Given the description of an element on the screen output the (x, y) to click on. 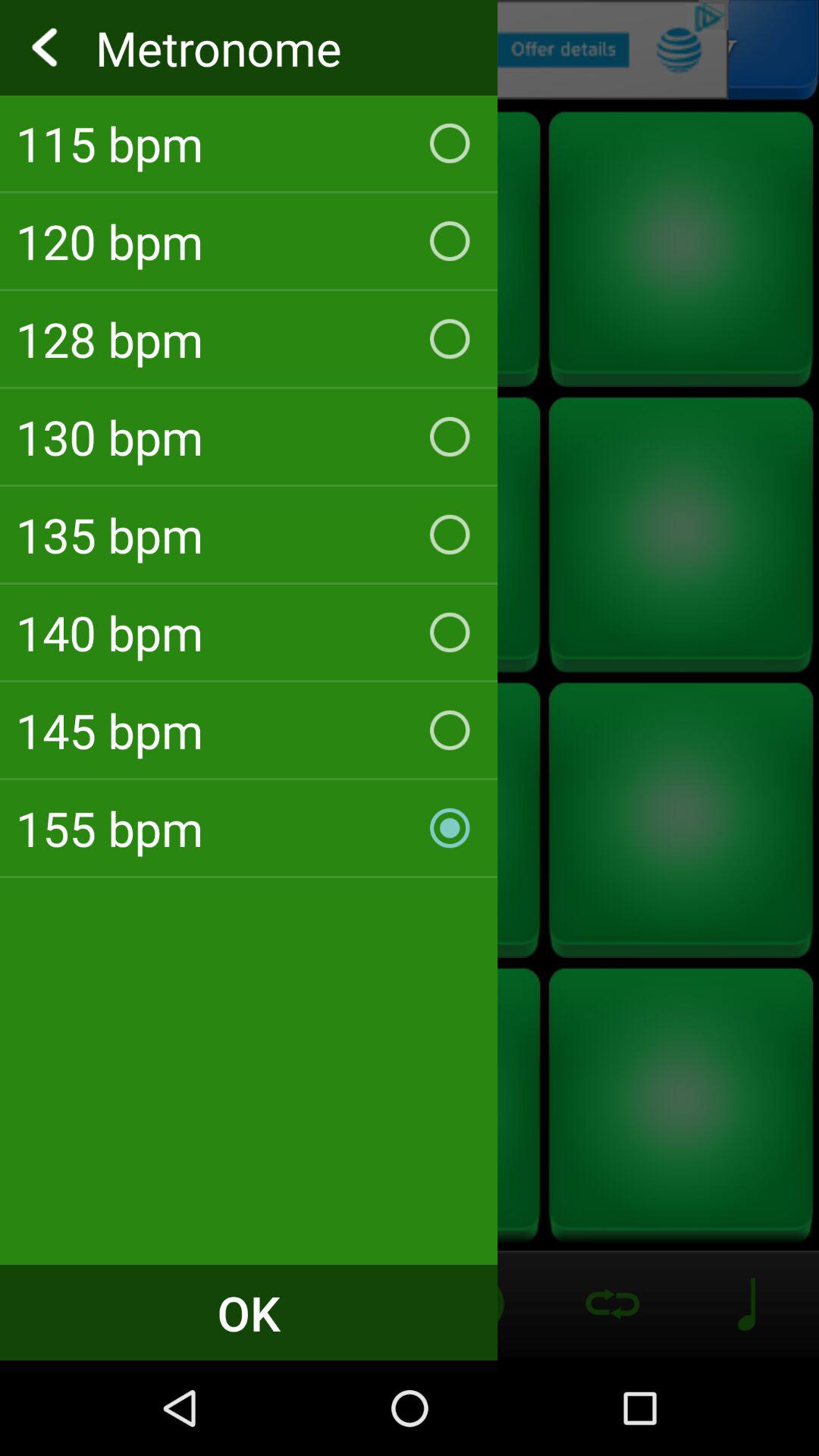
select item below the 115 bpm icon (248, 240)
